Given the description of an element on the screen output the (x, y) to click on. 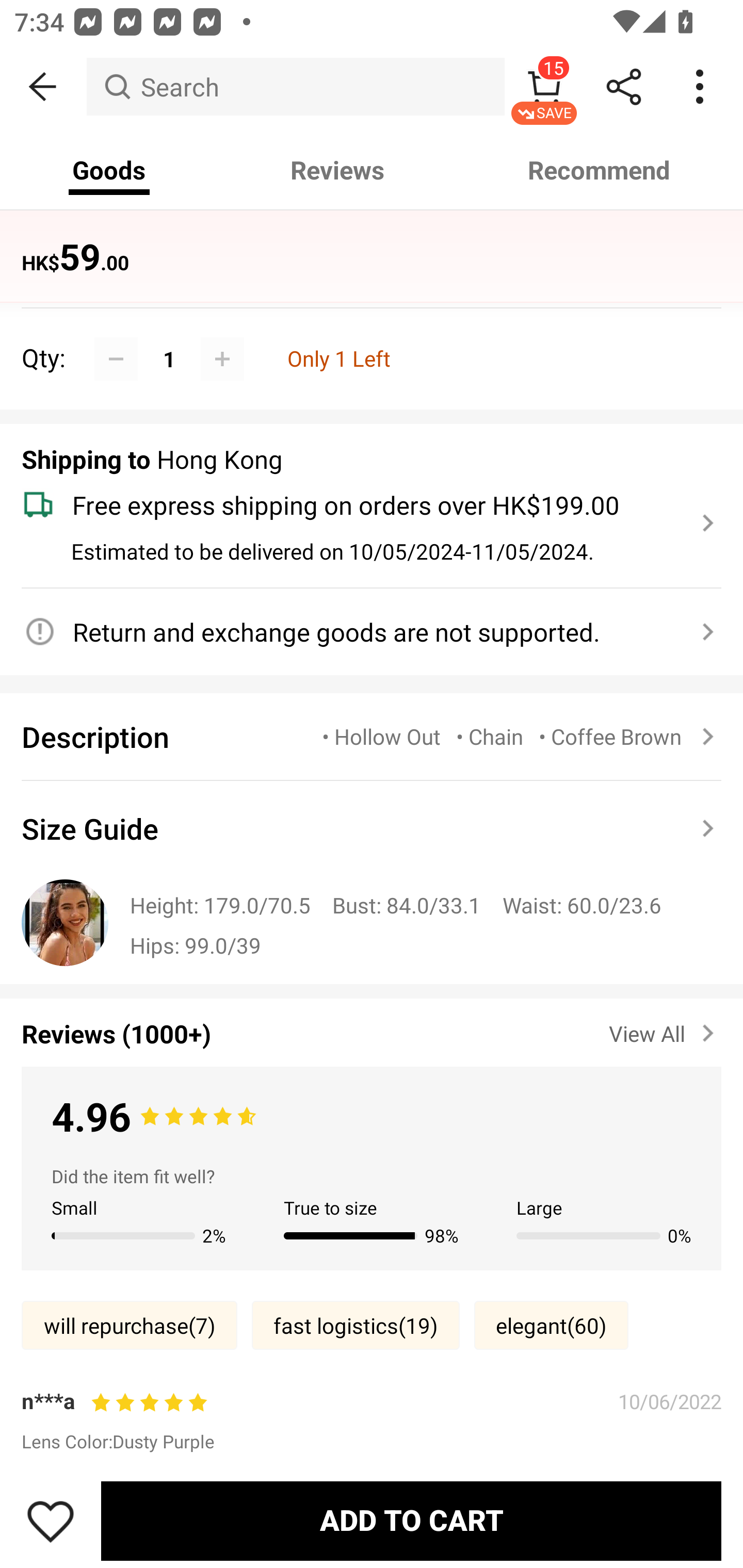
BACK (43, 86)
15 SAVE (543, 87)
Search (295, 87)
Goods (109, 170)
Reviews (337, 170)
Recommend (599, 170)
Qty: 1 Only 1 Left (371, 337)
Return and exchange goods are not supported. (359, 631)
Size Guide (371, 828)
View All (664, 1029)
will repurchase(7) (129, 1325)
fast logistics(19) (355, 1325)
elegant(60) (551, 1325)
n***a Rating5.0 10/06/2022 Lens Color:Dusty Purple (371, 1419)
ADD TO CART (411, 1520)
Save (50, 1520)
